Given the description of an element on the screen output the (x, y) to click on. 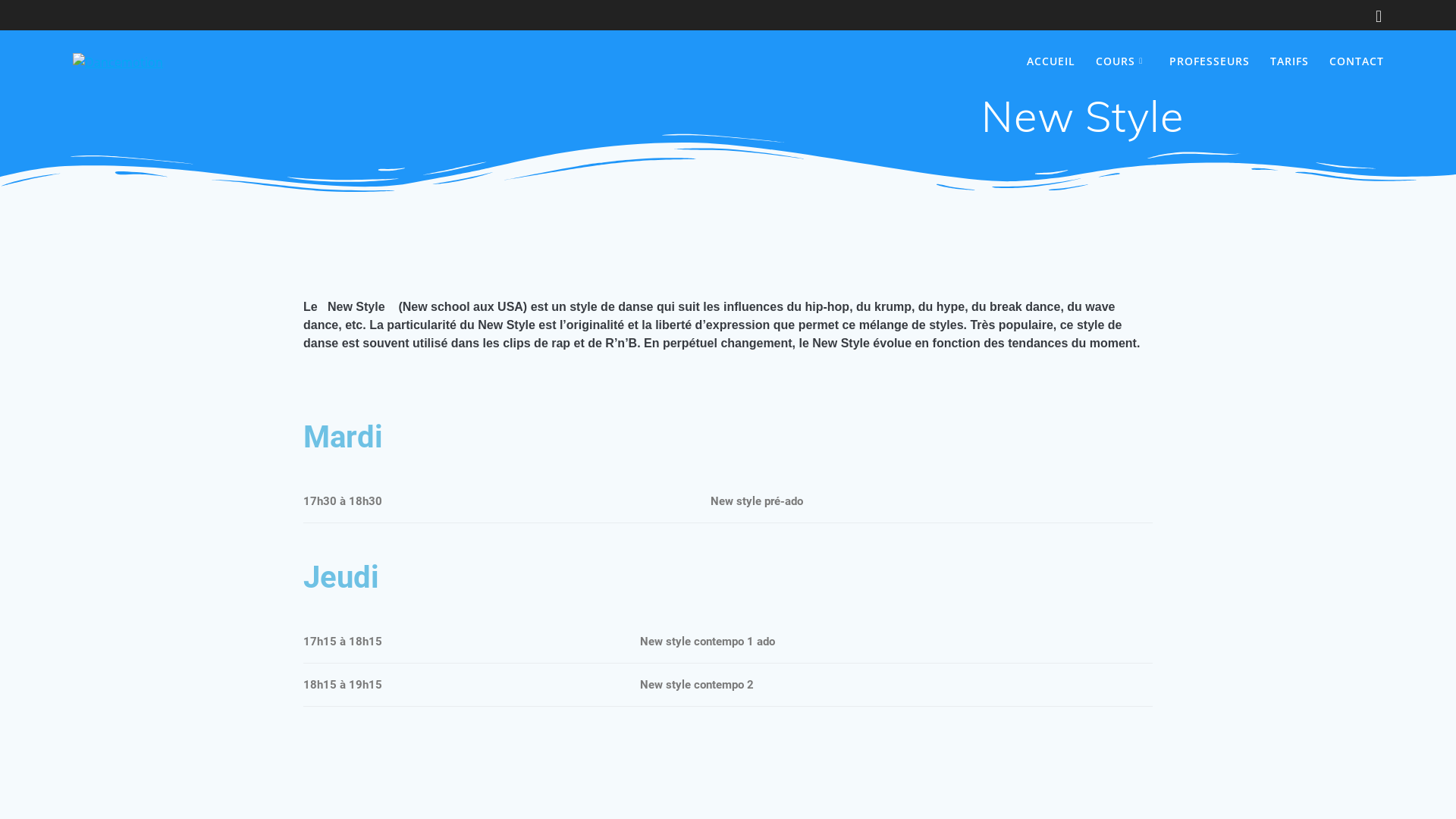
COURS Element type: text (1121, 61)
TARIFS Element type: text (1289, 61)
PROFESSEURS Element type: text (1209, 61)
ACCUEIL Element type: text (1050, 61)
CONTACT Element type: text (1356, 61)
